Given the description of an element on the screen output the (x, y) to click on. 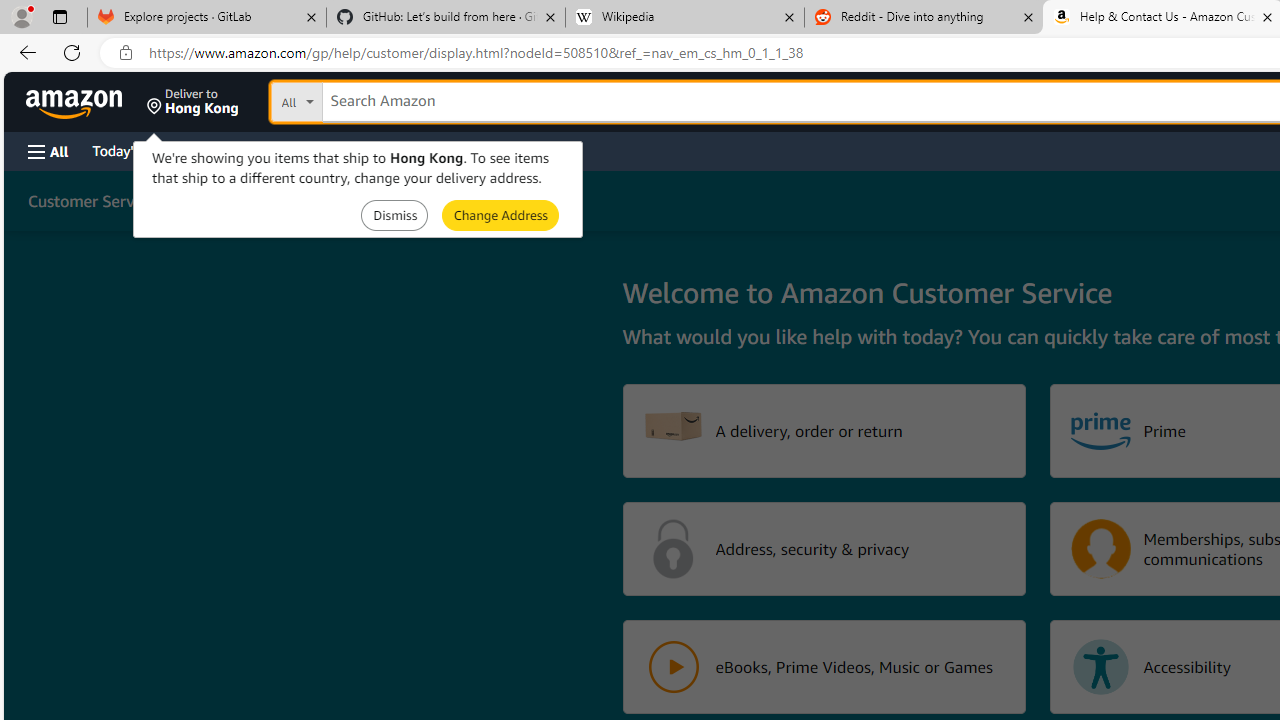
Open Menu (48, 151)
Deliver to Hong Kong (193, 101)
Wikipedia (684, 17)
Search in (371, 99)
Registry (360, 150)
A delivery, order or return (824, 430)
Today's Deals (134, 150)
Submit (499, 214)
Gift Cards (442, 150)
